Given the description of an element on the screen output the (x, y) to click on. 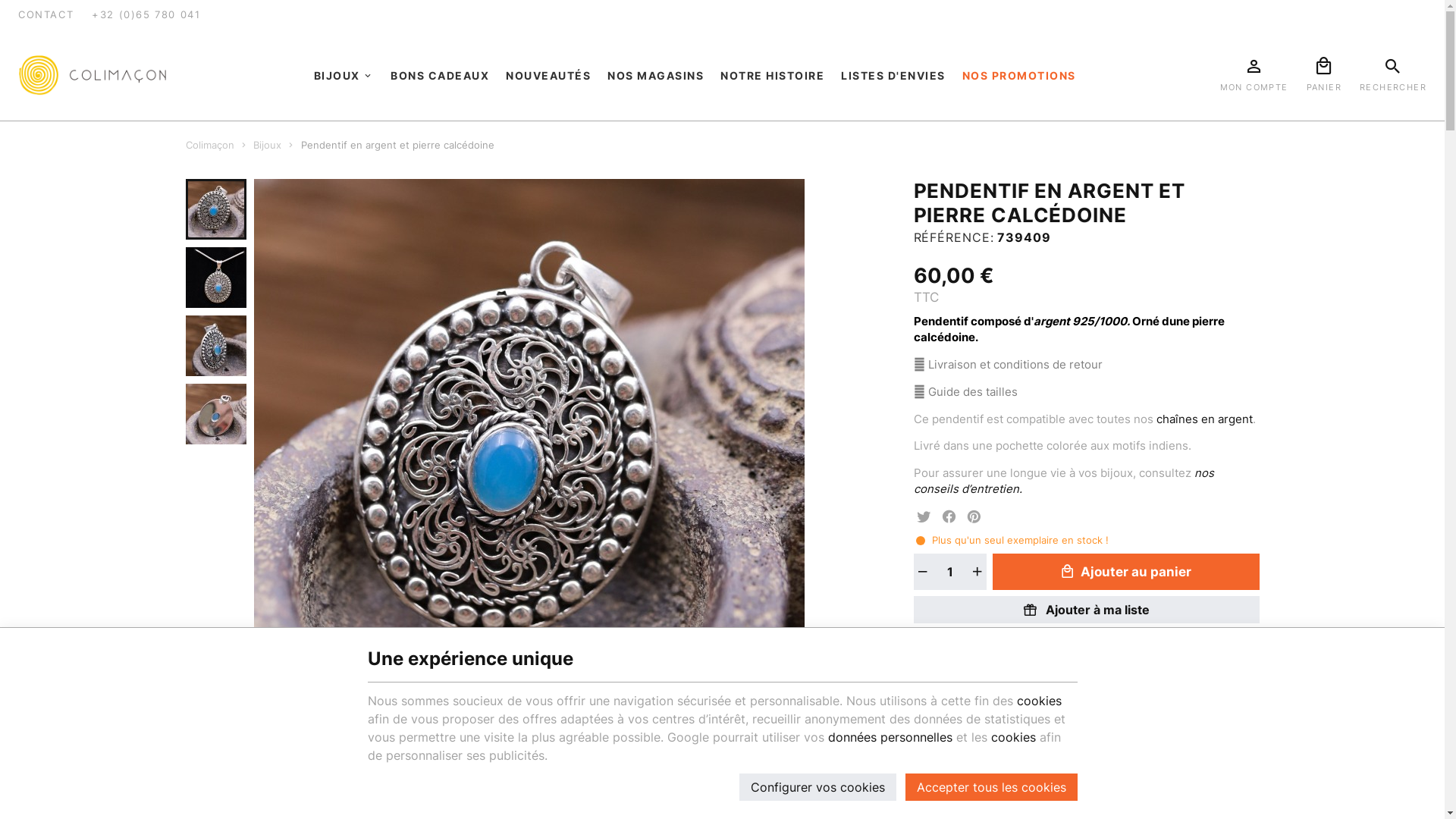
CONTACT Element type: text (45, 15)
LISTES D'ENVIES Element type: text (892, 75)
NOS MAGASINS Element type: text (655, 75)
NOTRE HISTOIRE Element type: text (772, 75)
Guide des tailles Element type: text (972, 391)
Ajouter au panier Element type: text (1124, 571)
Livraison et conditions de retour Element type: text (1015, 364)
cookies Element type: text (1038, 700)
RECHERCHER Element type: text (1392, 75)
BIJOUX Element type: text (343, 75)
BONS CADEAUX Element type: text (439, 75)
Bijoux Element type: text (267, 145)
+32 (0)65 780 041 Element type: text (145, 15)
NOS PROMOTIONS Element type: text (1018, 75)
PANIER Element type: text (1323, 75)
Accepter tous les cookies Element type: text (991, 786)
MON COMPTE Element type: text (1254, 75)
cookies Element type: text (1012, 736)
Configurer vos cookies Element type: text (816, 786)
